Given the description of an element on the screen output the (x, y) to click on. 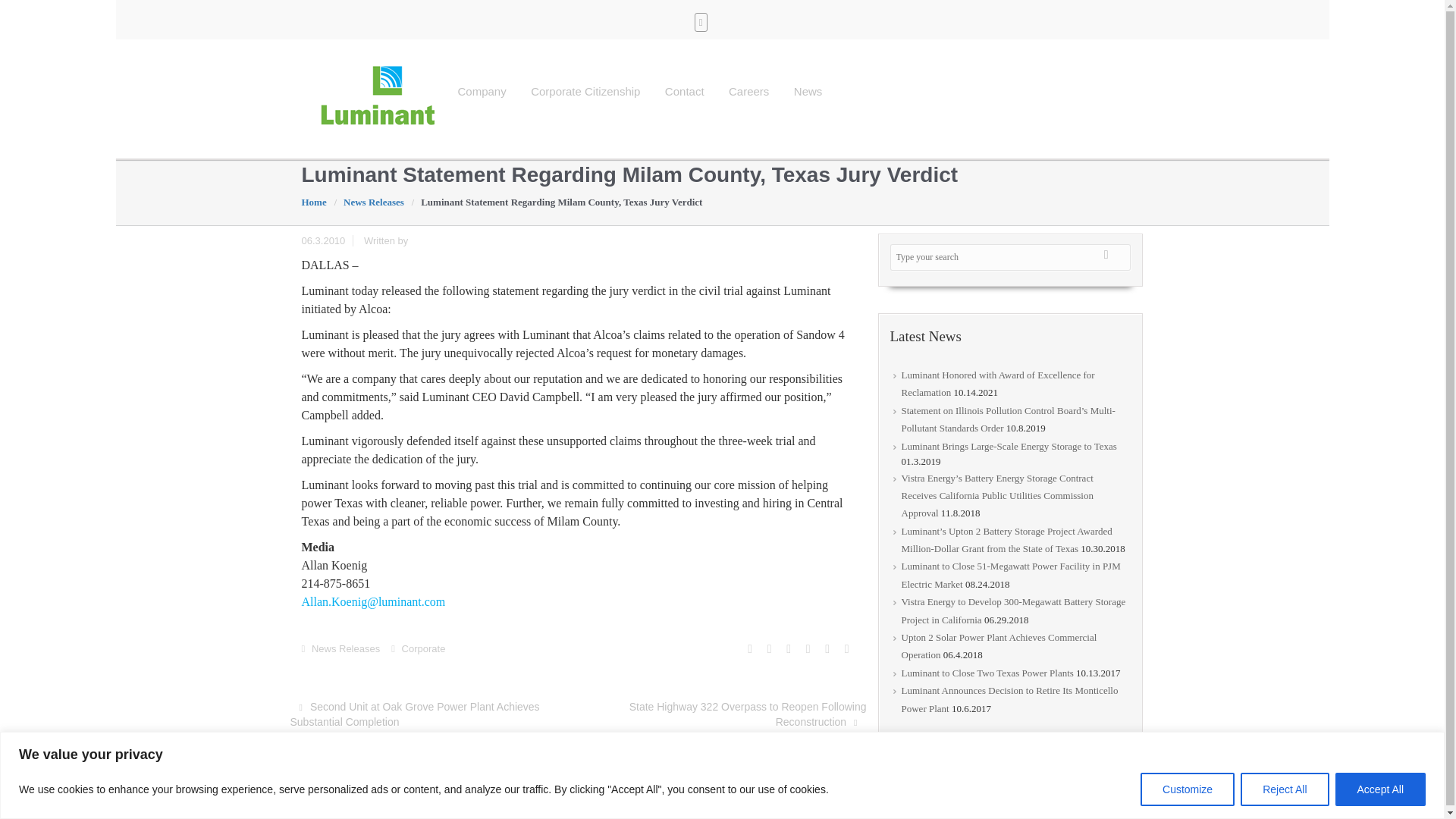
Careers (748, 91)
06.3.2010 (331, 240)
Contact (685, 91)
News (808, 91)
Accept All (1380, 788)
Home (317, 202)
Reject All (1283, 788)
Company (482, 91)
Corporate Citizenship (585, 91)
Customize (1187, 788)
